Given the description of an element on the screen output the (x, y) to click on. 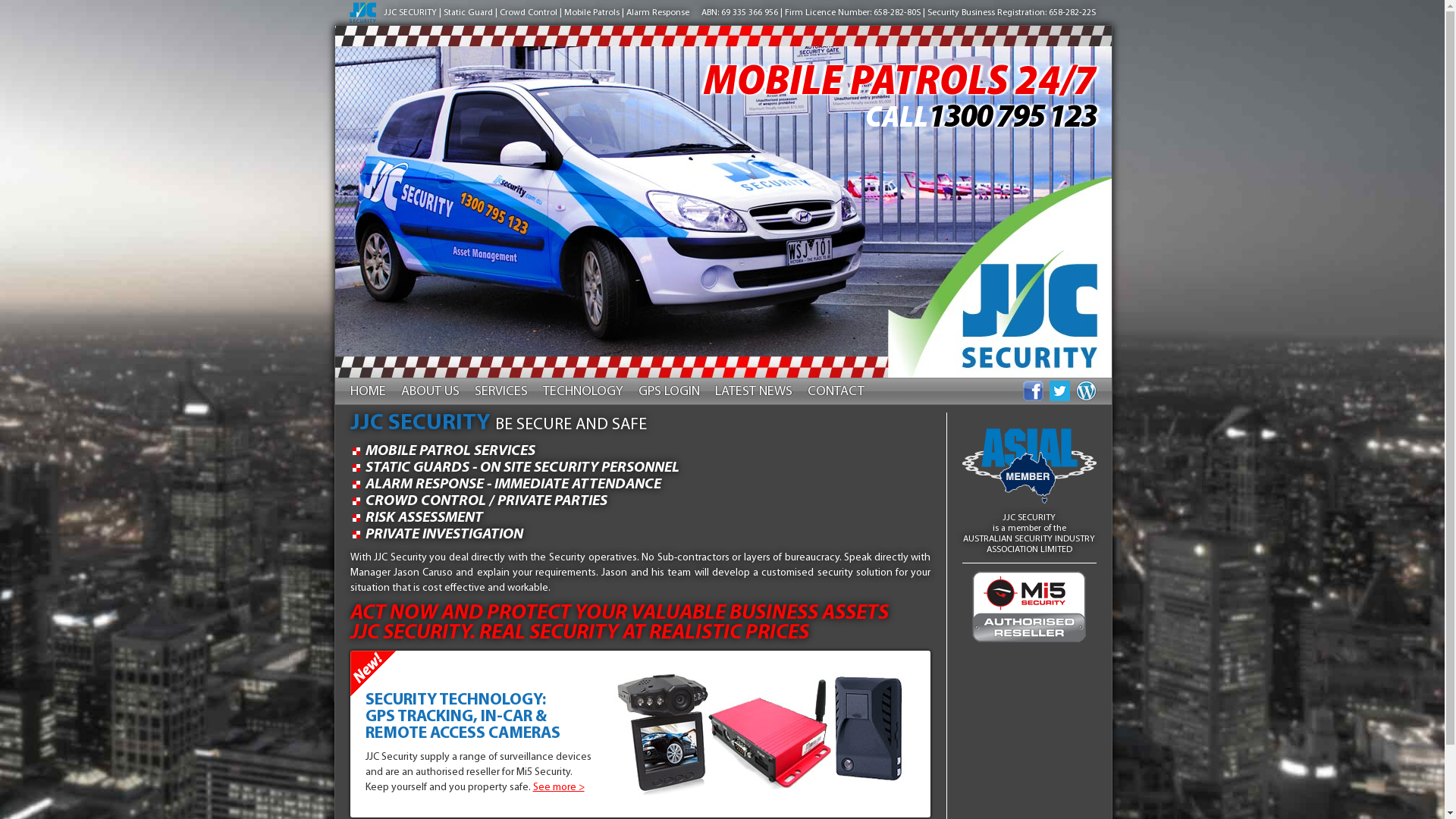
JJC Security on Facebook Element type: hover (1032, 390)
CONTACT Element type: text (835, 394)
ABOUT US Element type: text (429, 394)
LATEST NEWS Element type: text (752, 394)
HOME Element type: text (367, 394)
JJC Security blog on Wordpress Element type: hover (1085, 390)
See more > Element type: text (557, 787)
GPS LOGIN Element type: text (668, 394)
SERVICES Element type: text (501, 394)
JJC Security on Twitter Element type: hover (1059, 390)
TECHNOLOGY Element type: text (582, 394)
